Given the description of an element on the screen output the (x, y) to click on. 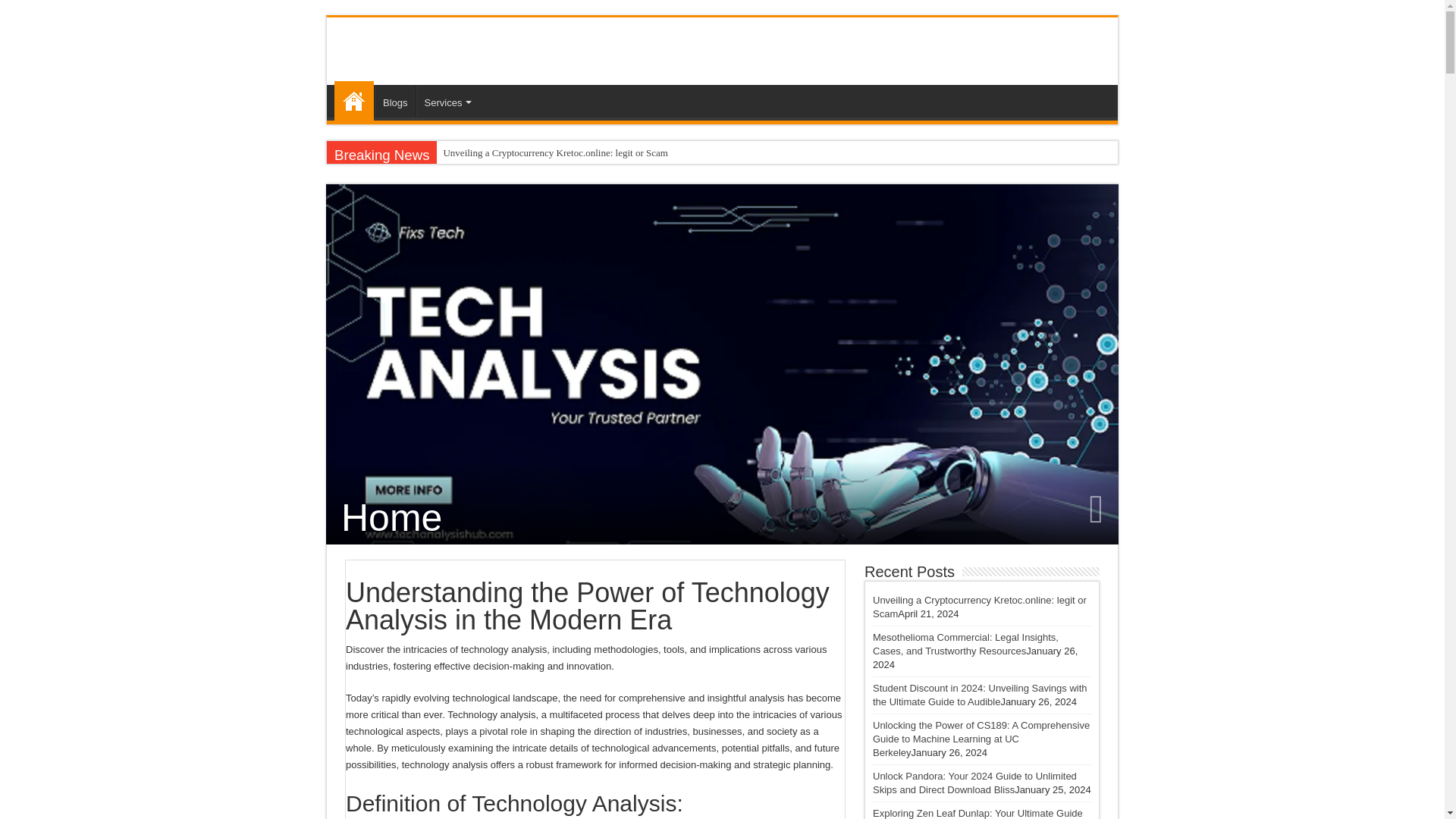
Services (446, 101)
Unveiling a Cryptocurrency Kretoc.online: legit or Scam (979, 606)
Blogs (394, 101)
Unveiling a Cryptocurrency Kretoc.online: legit or Scam (630, 152)
Home (354, 100)
Unveiling a Cryptocurrency Kretoc.online: legit or Scam (630, 152)
